Given the description of an element on the screen output the (x, y) to click on. 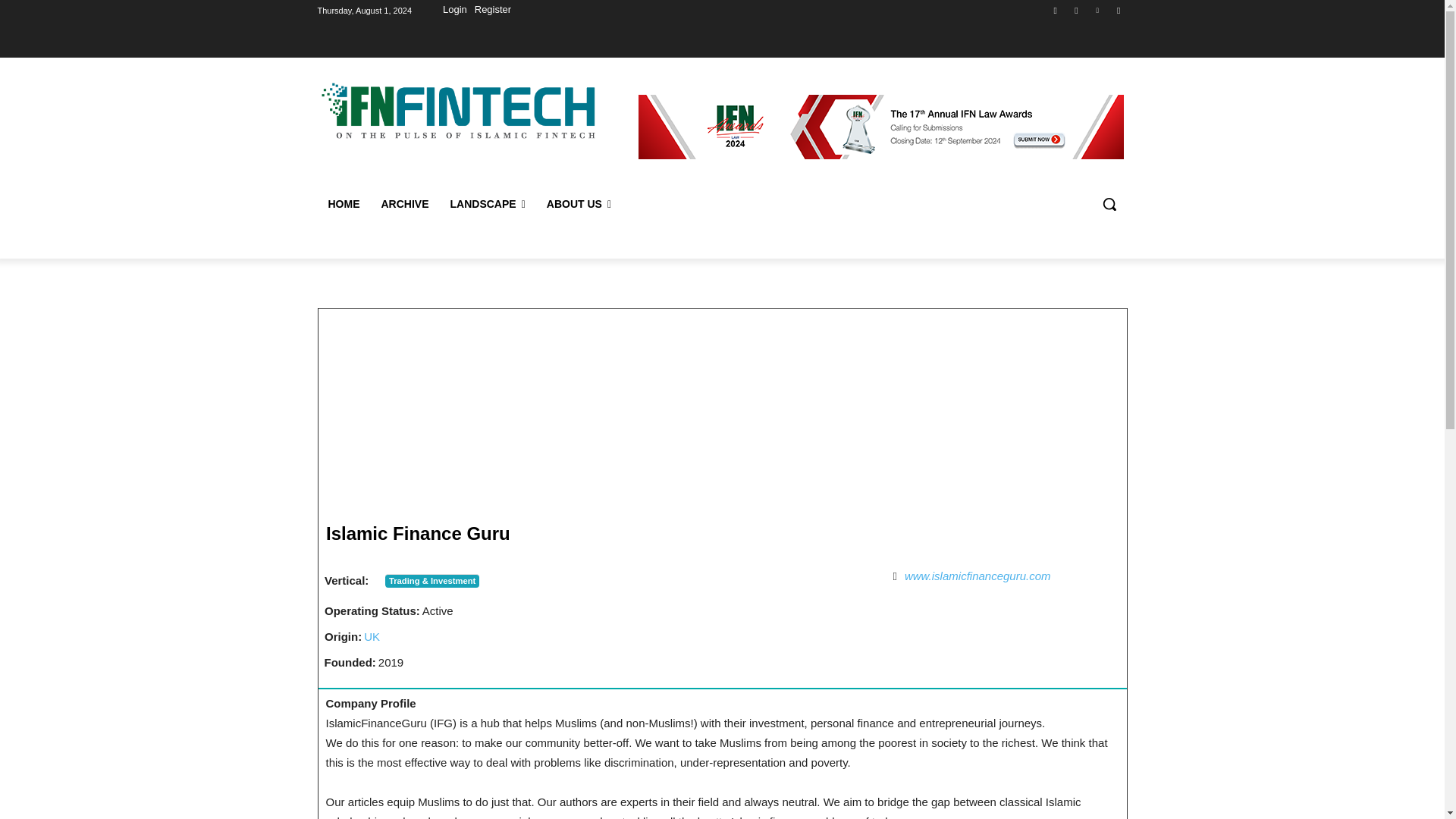
Instagram (1075, 9)
www.islamicfinanceguru.com (976, 575)
ARCHIVE (404, 203)
ABOUT US (578, 203)
UK (372, 635)
Linkedin (1097, 9)
Login (454, 11)
UK (372, 635)
Facebook (1055, 9)
HOME (343, 203)
LANDSCAPE (487, 203)
Twitter (1117, 9)
Register (492, 11)
